Given the description of an element on the screen output the (x, y) to click on. 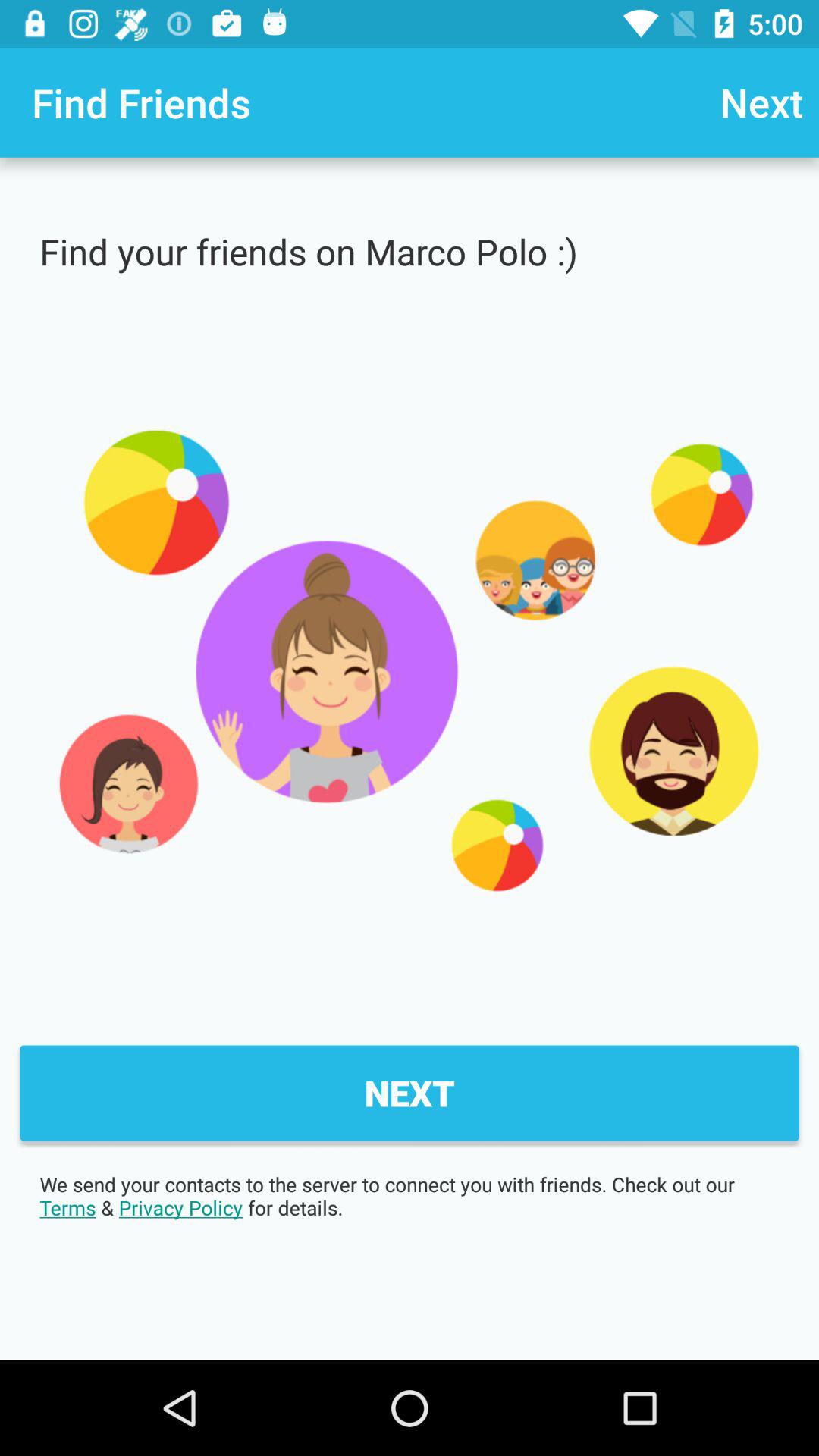
turn off the we send your item (409, 1196)
